Given the description of an element on the screen output the (x, y) to click on. 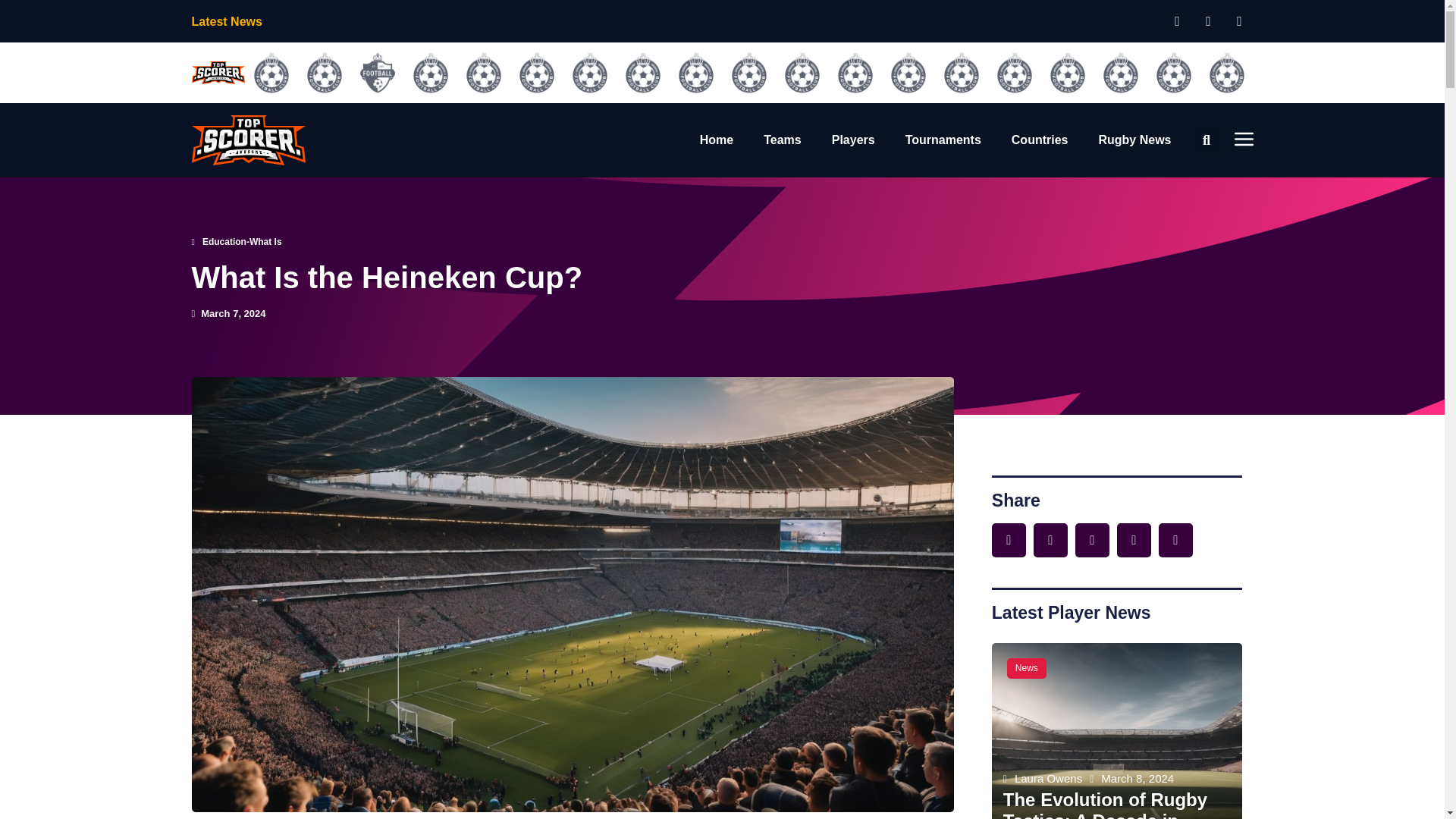
Players (853, 140)
Home (716, 140)
Countries (1039, 140)
Rugby News (1133, 140)
Tournaments (943, 140)
Teams (782, 140)
